Given the description of an element on the screen output the (x, y) to click on. 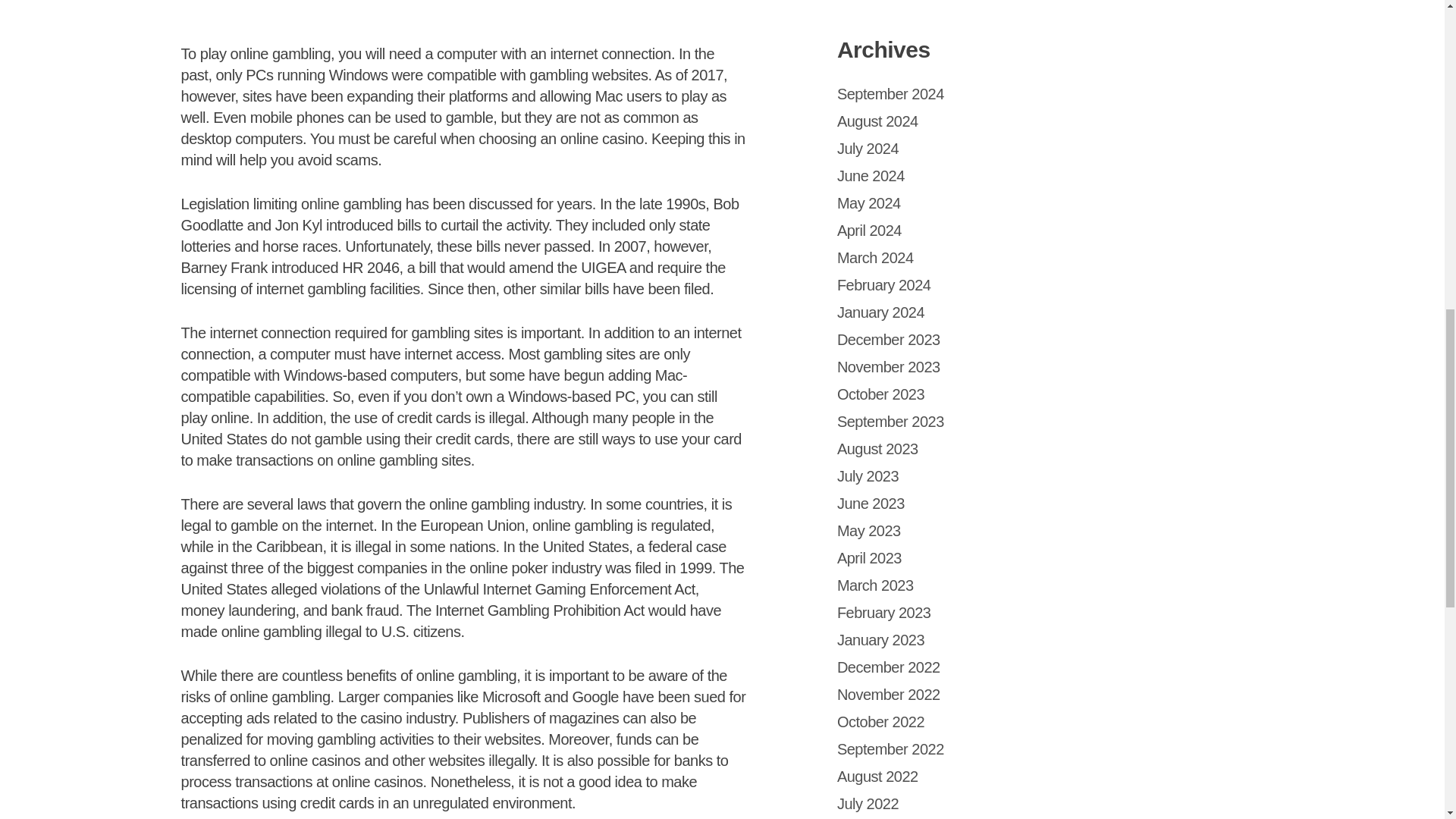
April 2024 (869, 230)
April 2023 (869, 557)
June 2023 (870, 503)
March 2023 (875, 585)
December 2023 (888, 339)
September 2023 (890, 421)
May 2024 (869, 202)
August 2023 (877, 448)
November 2023 (888, 366)
October 2023 (880, 393)
